Given the description of an element on the screen output the (x, y) to click on. 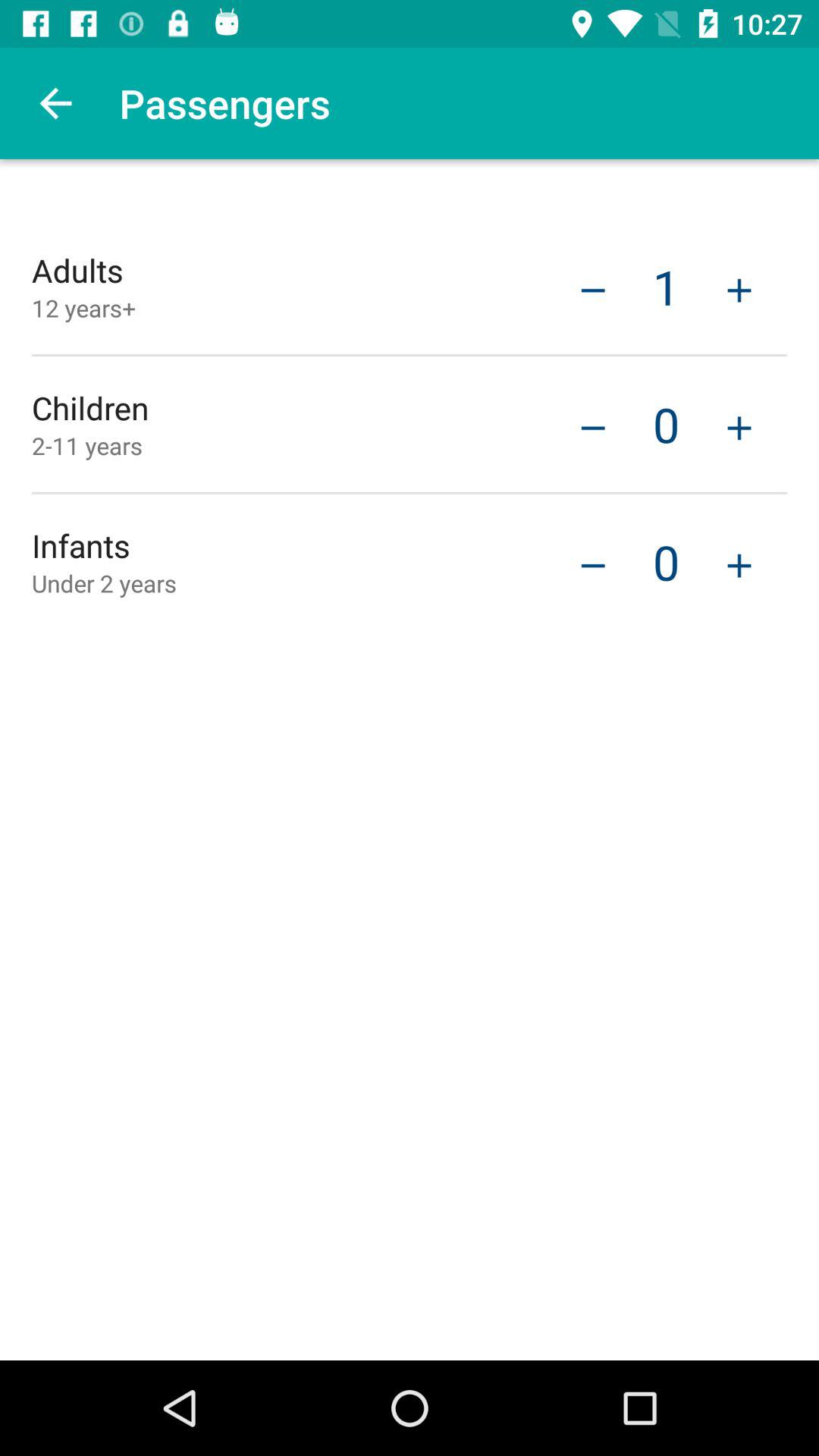
press item next to 0 (739, 426)
